Given the description of an element on the screen output the (x, y) to click on. 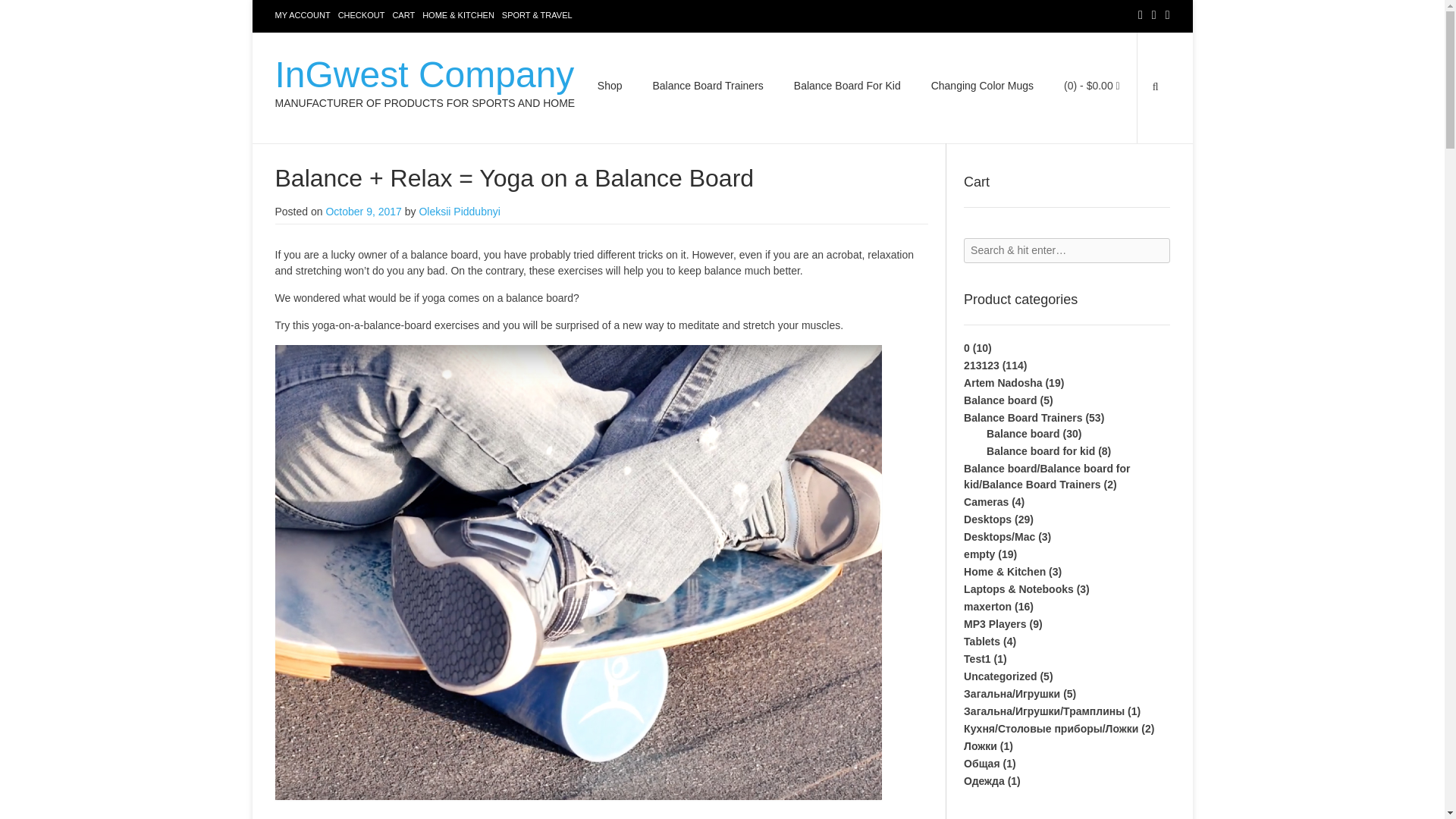
Balance Board Trainers (1022, 417)
213123 (980, 365)
Desktops (987, 519)
View your shopping cart (1091, 85)
October 9, 2017 (362, 211)
Balance Board Trainers (707, 87)
MY ACCOUNT (302, 14)
InGwest Company (425, 74)
empty (978, 553)
Balance Board For Kid (846, 87)
